Given the description of an element on the screen output the (x, y) to click on. 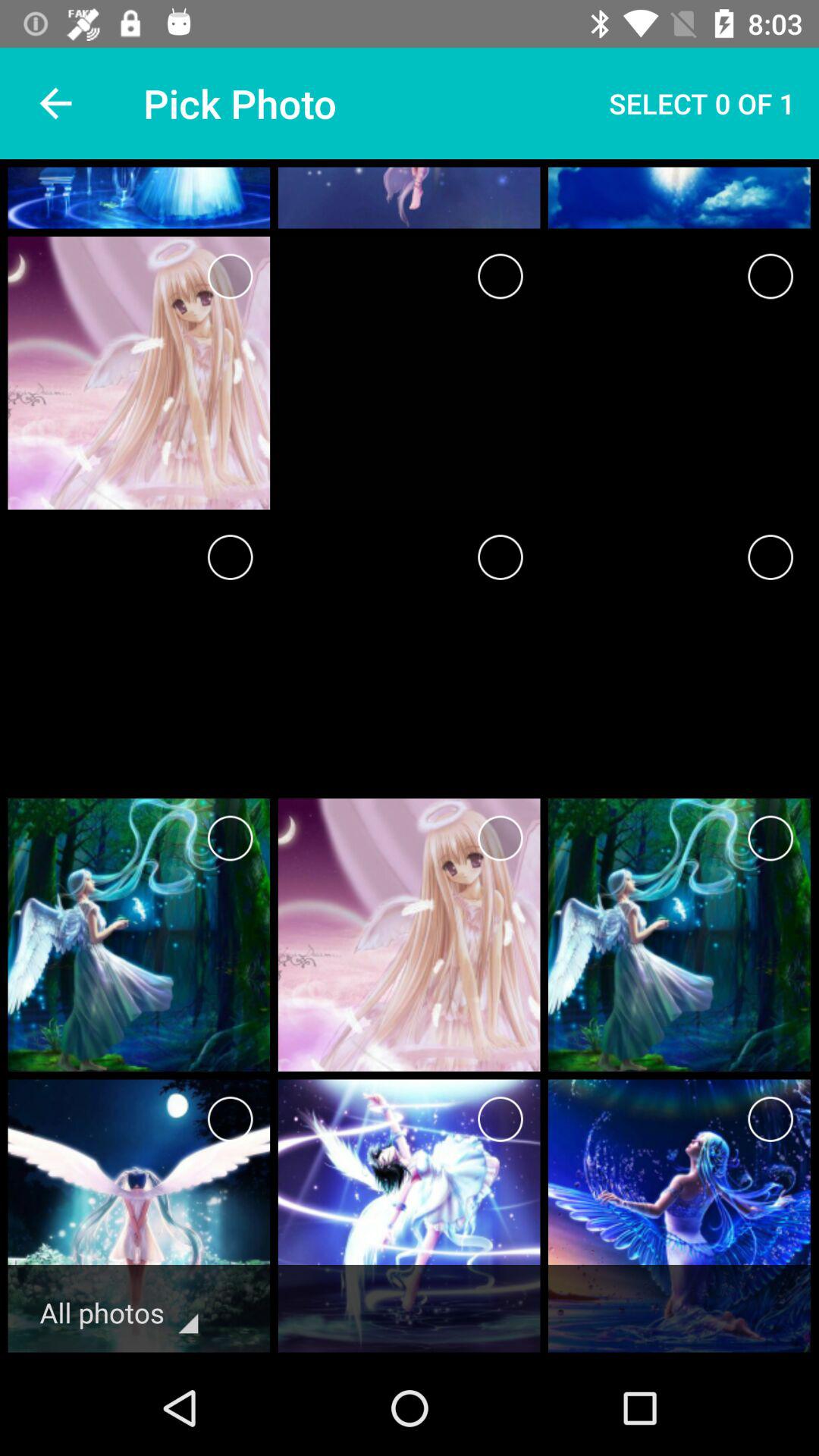
include picture (500, 1119)
